Given the description of an element on the screen output the (x, y) to click on. 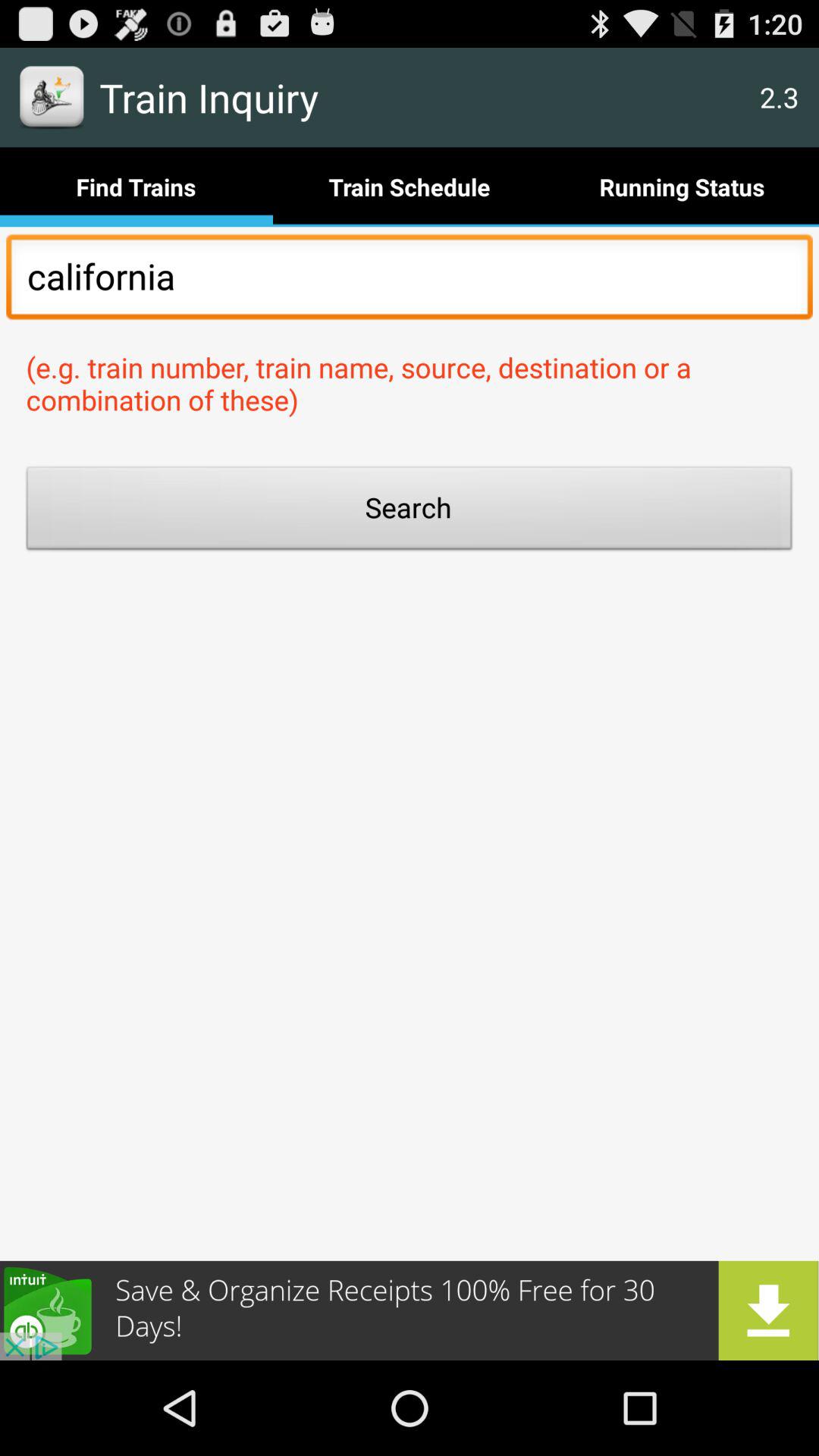
download the app (409, 1310)
